Given the description of an element on the screen output the (x, y) to click on. 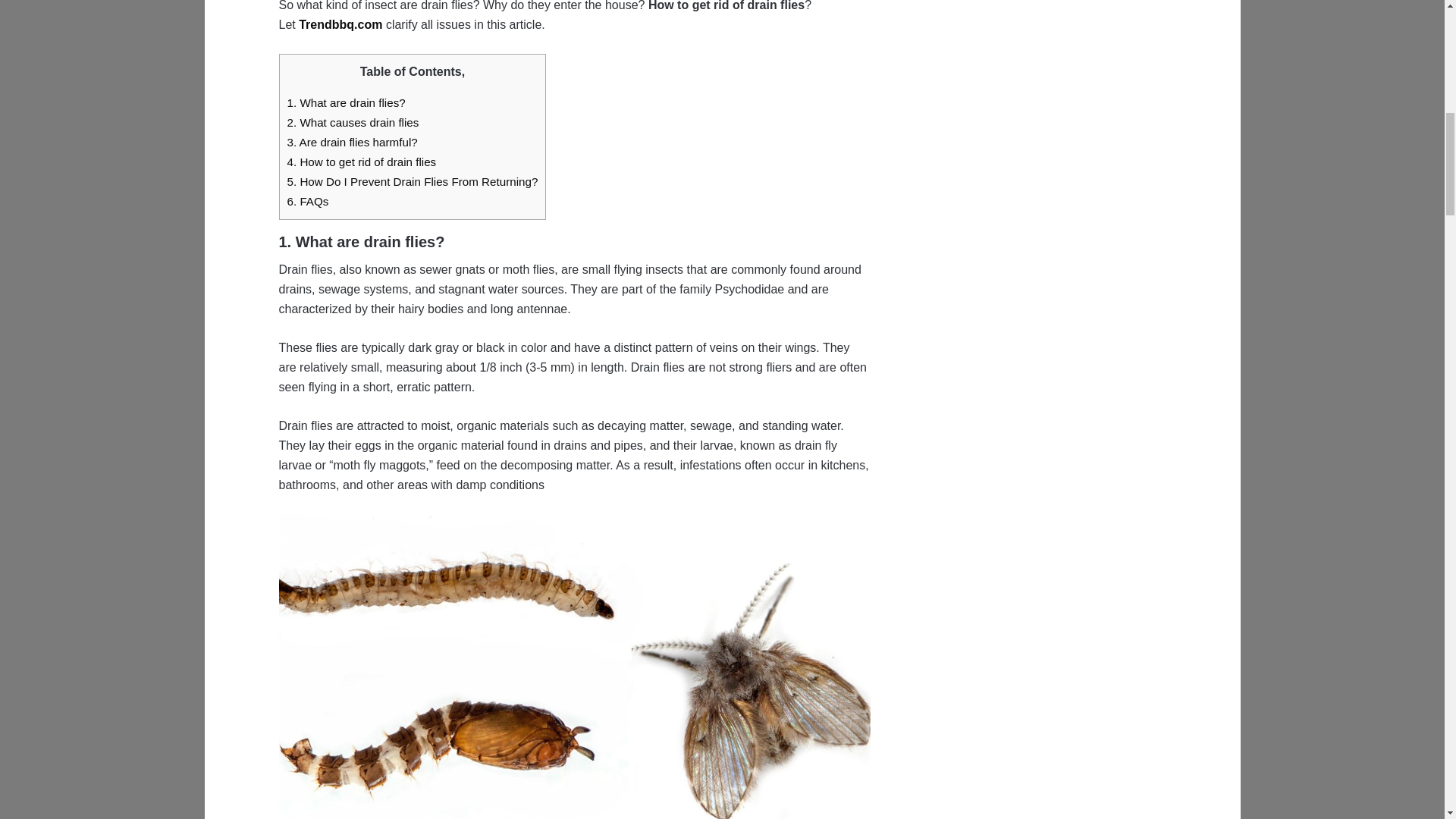
3. Are drain flies harmful? (351, 141)
1. What are drain flies? (345, 102)
4. How to get rid of drain flies (360, 161)
6. FAQs (307, 201)
Trendbbq.com (339, 24)
2. What causes drain flies (352, 122)
5. How Do I Prevent Drain Flies From Returning? (411, 181)
